Given the description of an element on the screen output the (x, y) to click on. 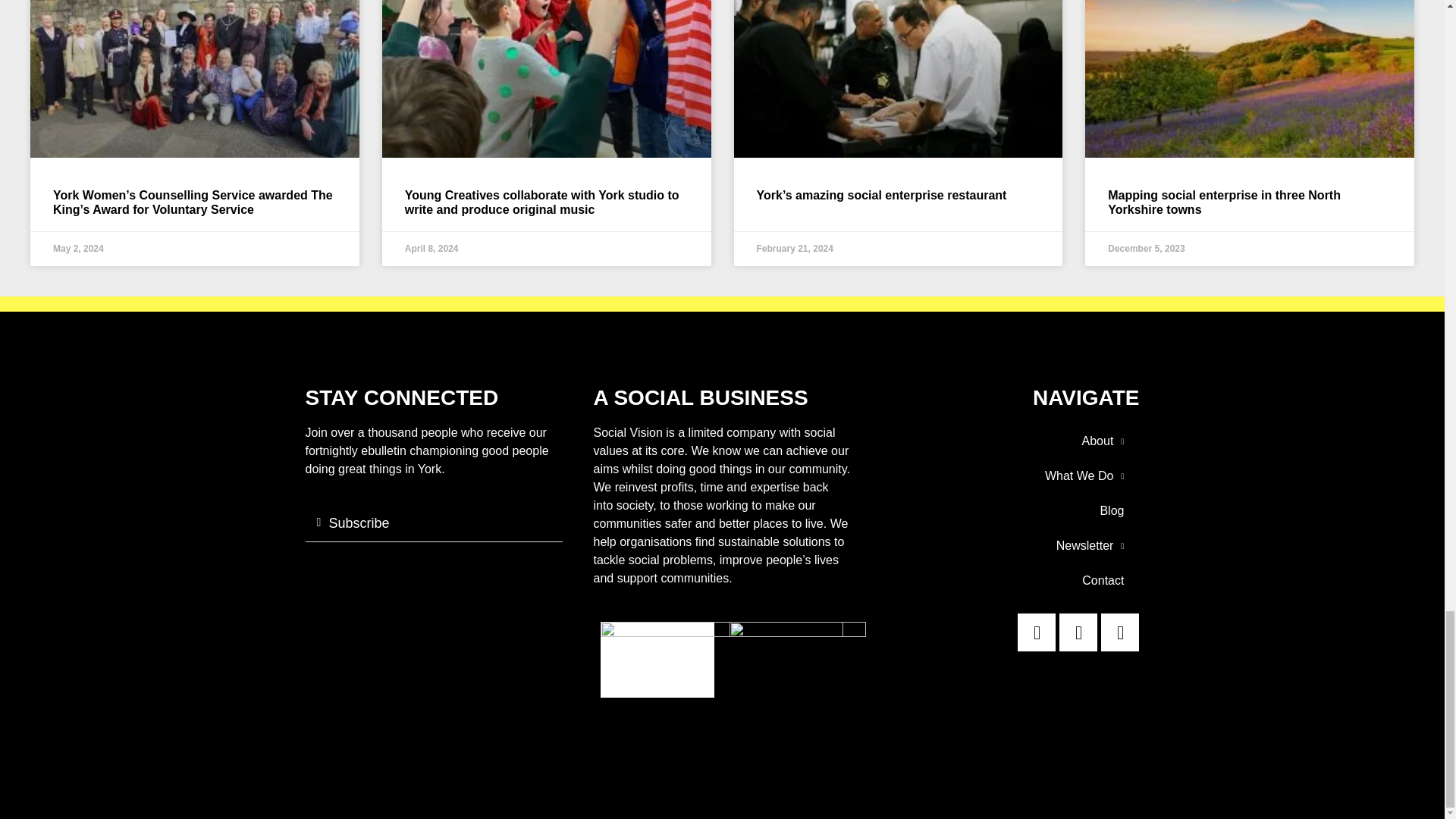
Blog (1009, 510)
Subscribe (359, 522)
About (1009, 441)
Mapping social enterprise in three North Yorkshire towns (1224, 202)
What We Do (1009, 475)
